Given the description of an element on the screen output the (x, y) to click on. 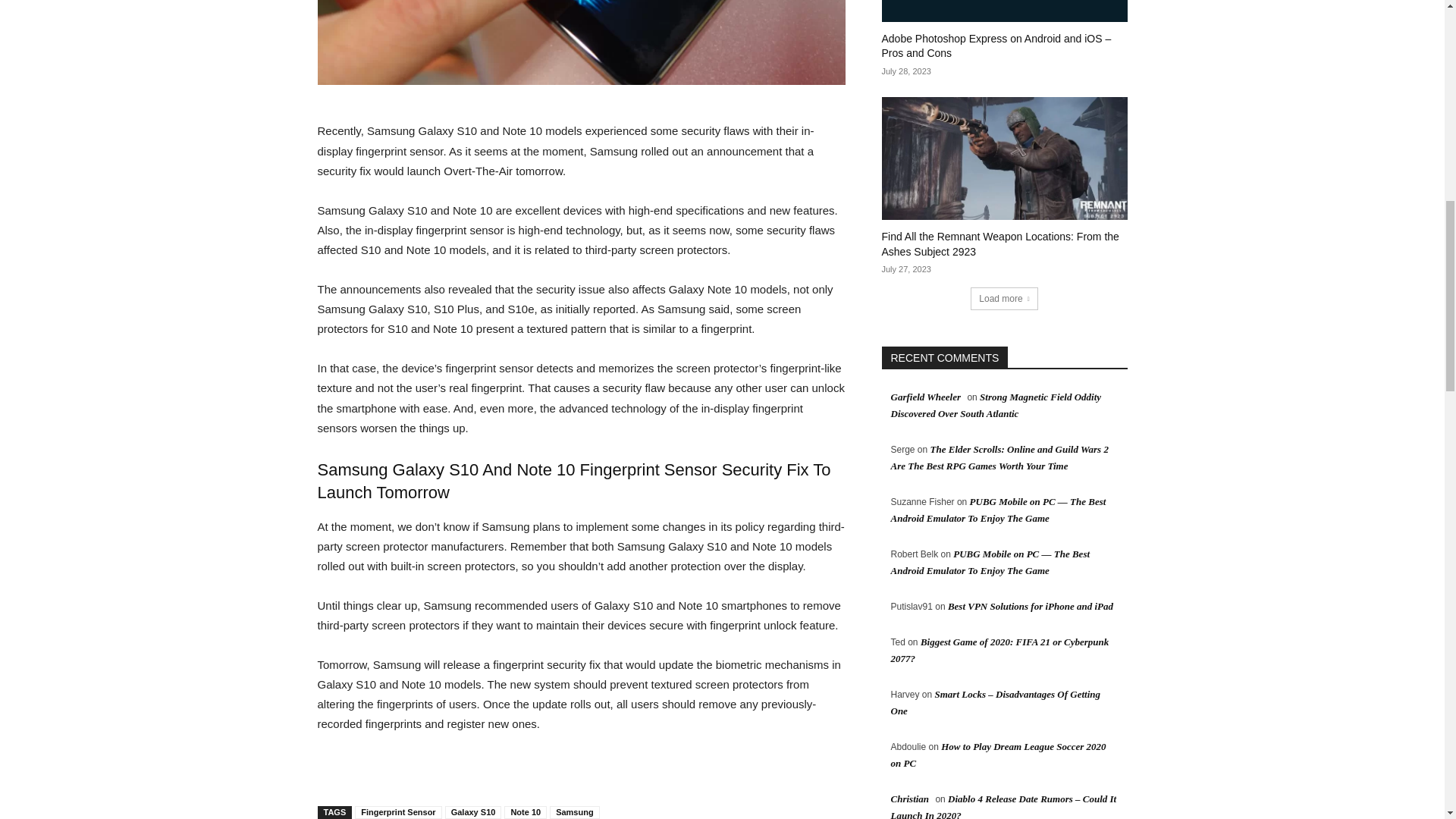
Note 10 (525, 812)
Fingerprint Sensor (398, 812)
samsung-galaxy-s10-note-10-fingerprint-sensor-security-fix (580, 42)
Galaxy S10 (473, 812)
